Given the description of an element on the screen output the (x, y) to click on. 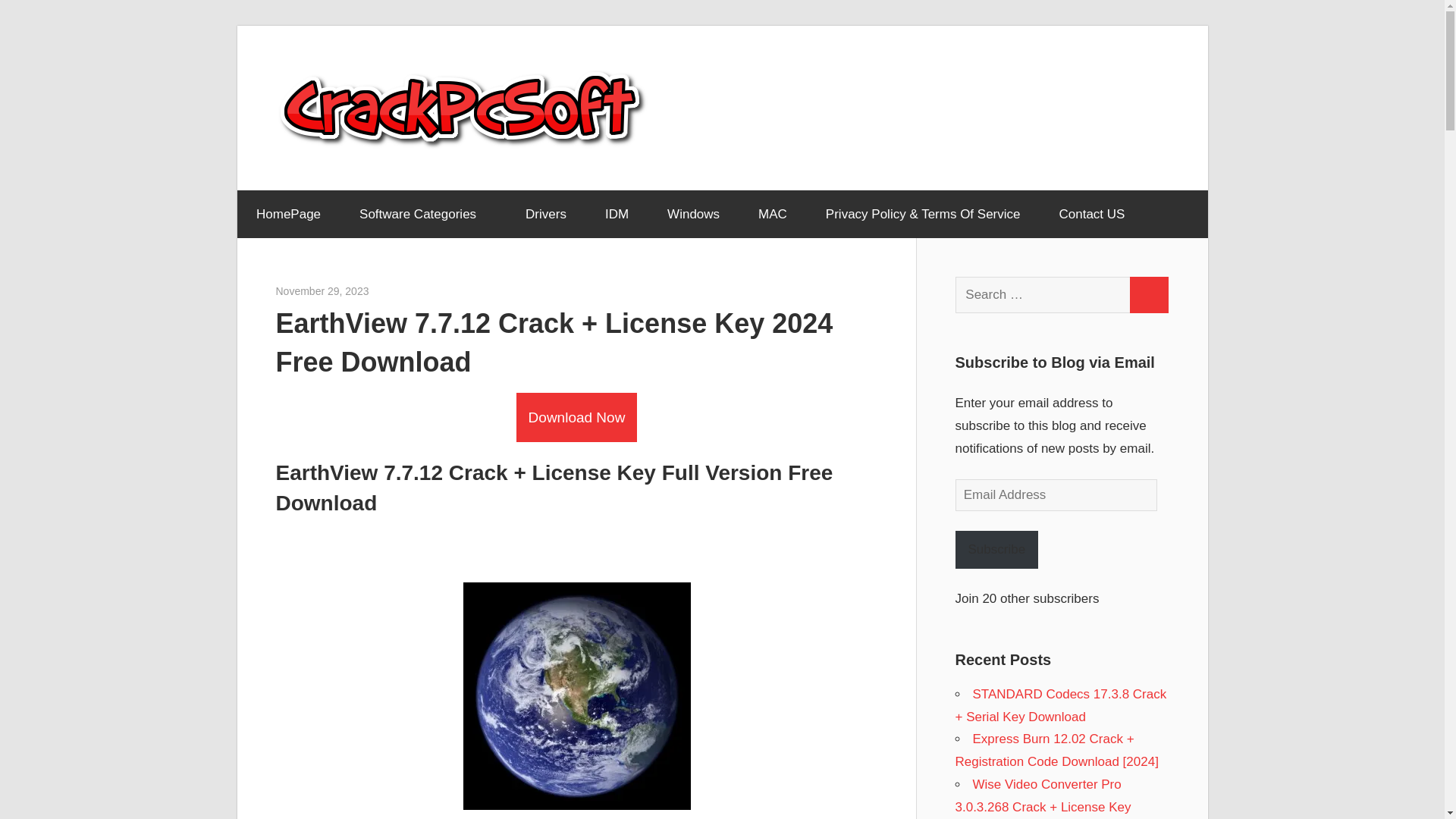
Download Now (576, 417)
View all posts by abihaadmin (395, 291)
HomePage (287, 213)
Software Categories (423, 213)
Windows (693, 213)
November 29, 2023 (322, 291)
abihaadmin (395, 291)
MAC (772, 213)
1:05 am (322, 291)
Contact US (1091, 213)
IDM (616, 213)
Download Now (576, 417)
Drivers (546, 213)
